Given the description of an element on the screen output the (x, y) to click on. 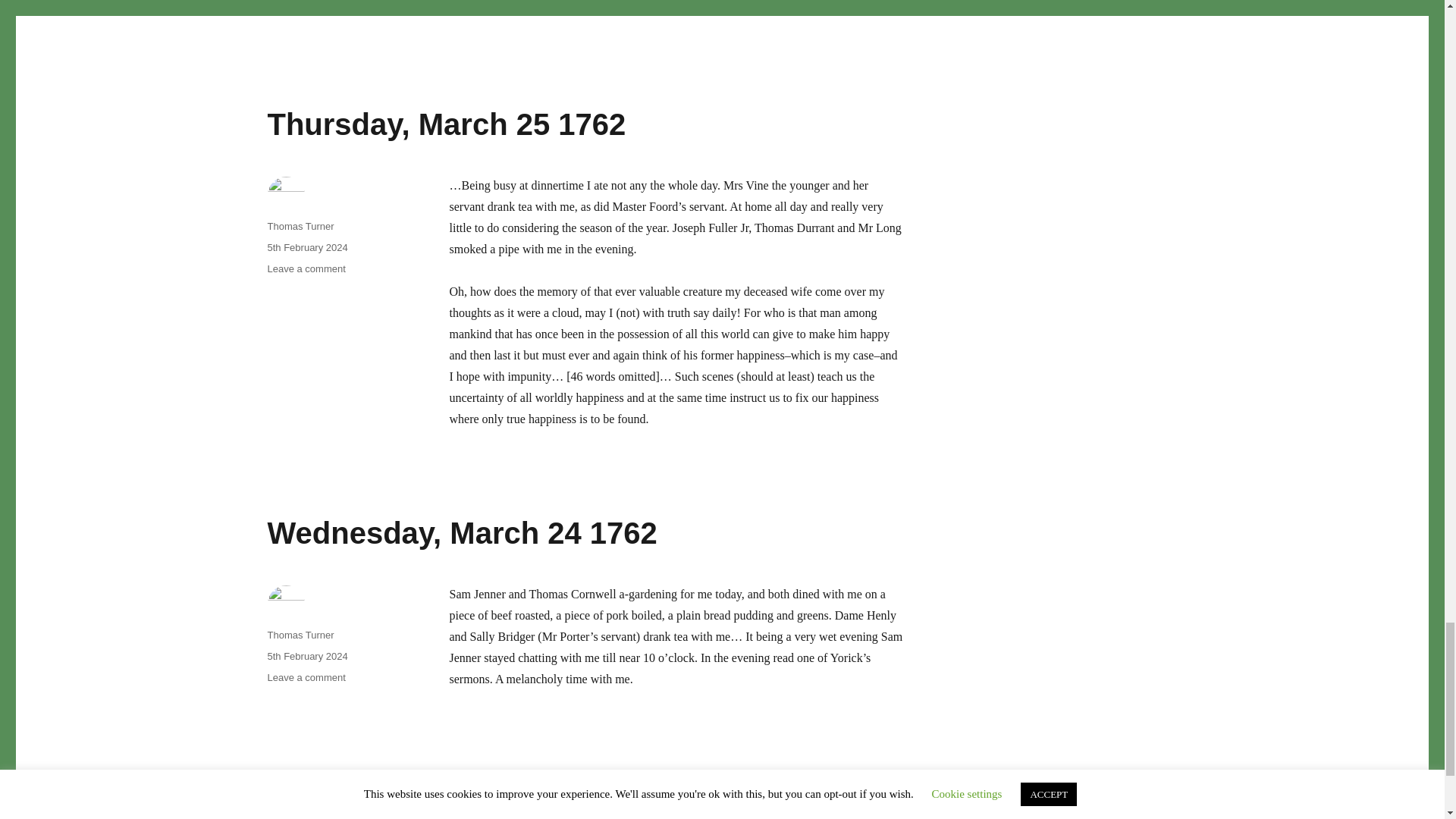
Thursday, March 25 1762 (305, 12)
5th February 2024 (446, 123)
Thomas Turner (306, 247)
